Given the description of an element on the screen output the (x, y) to click on. 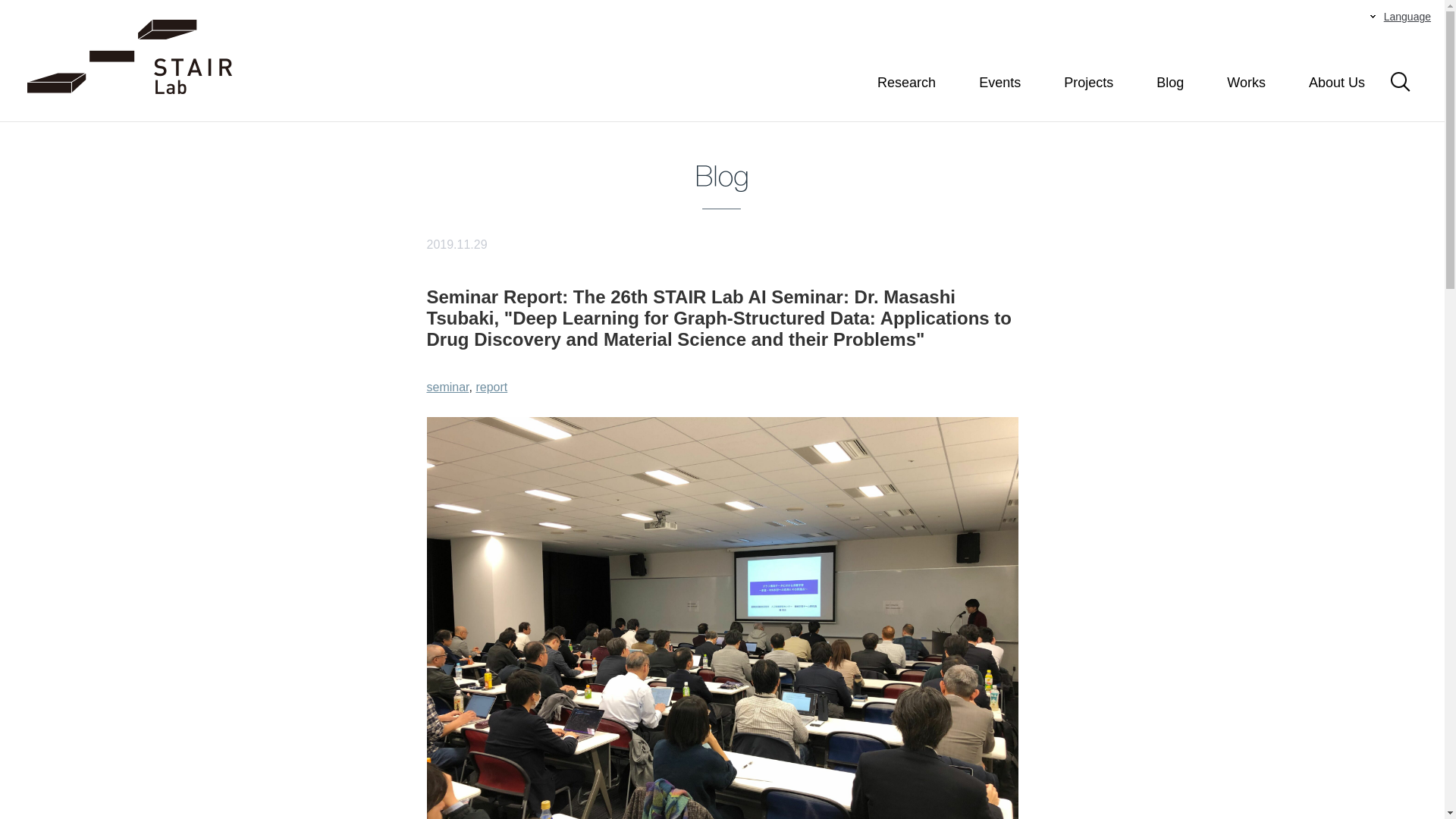
Events Element type: text (999, 82)
report Element type: text (491, 386)
Projects Element type: text (1088, 82)
Blog Element type: text (1169, 82)
seminar Element type: text (447, 386)
Language Element type: text (1400, 16)
Research Element type: text (906, 82)
About Us Element type: text (1336, 82)
Works Element type: text (1245, 82)
